Given the description of an element on the screen output the (x, y) to click on. 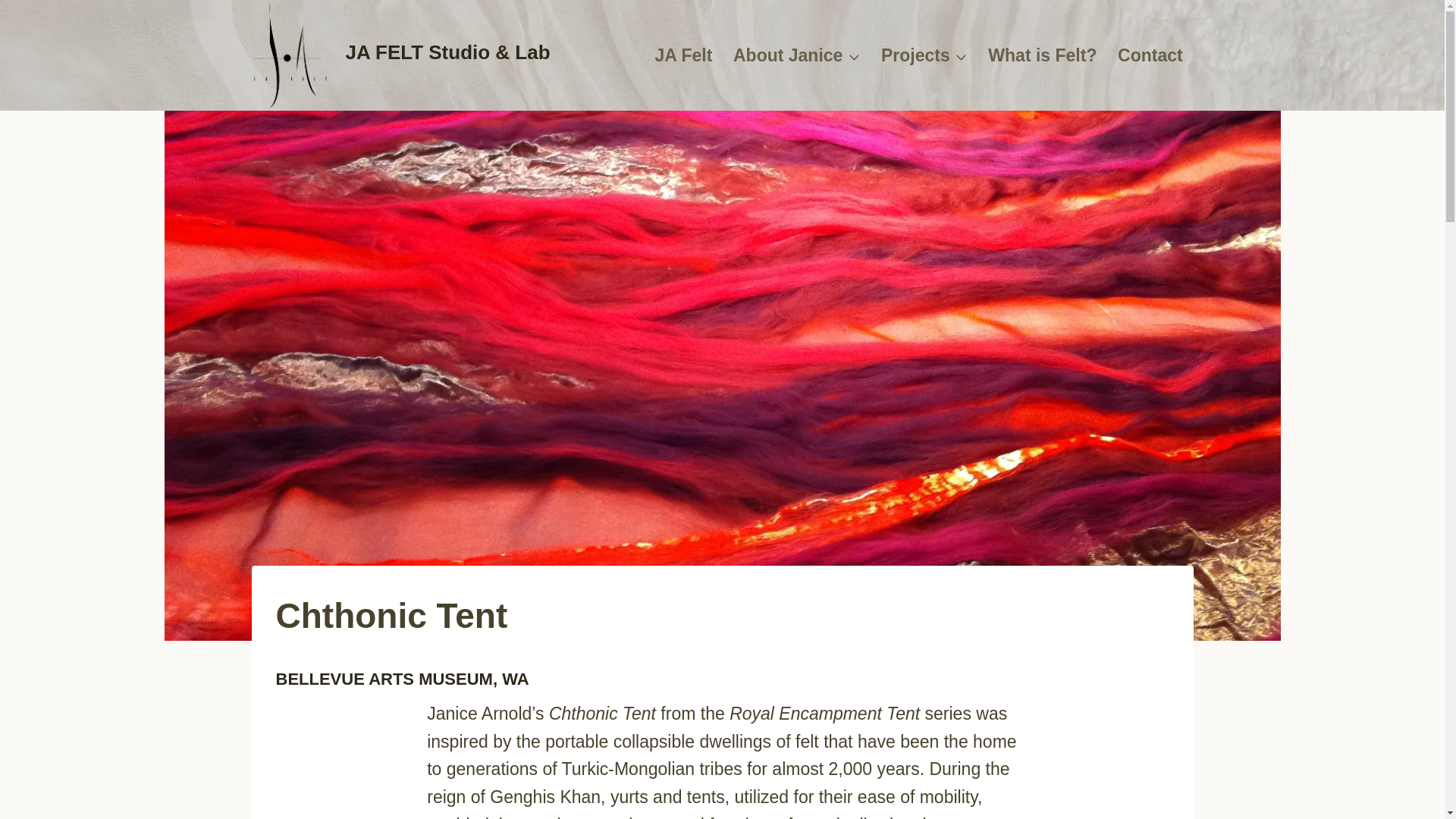
Contact (1149, 55)
About Janice (796, 55)
JA Felt (683, 55)
Projects (923, 55)
What is Felt? (1043, 55)
